Given the description of an element on the screen output the (x, y) to click on. 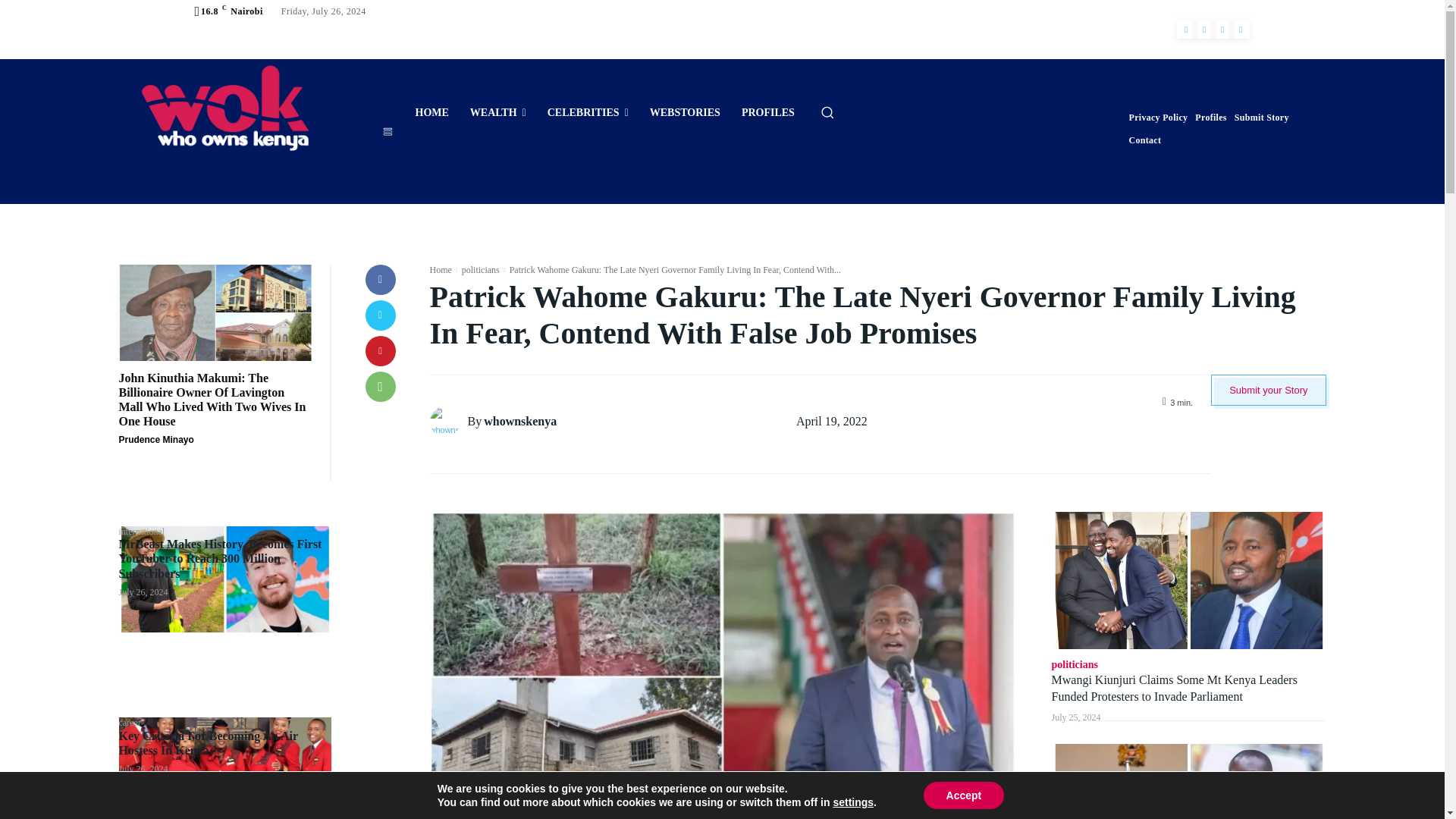
Instagram (1203, 29)
Twitter (1221, 29)
Facebook (1185, 29)
Youtube (1240, 29)
